Given the description of an element on the screen output the (x, y) to click on. 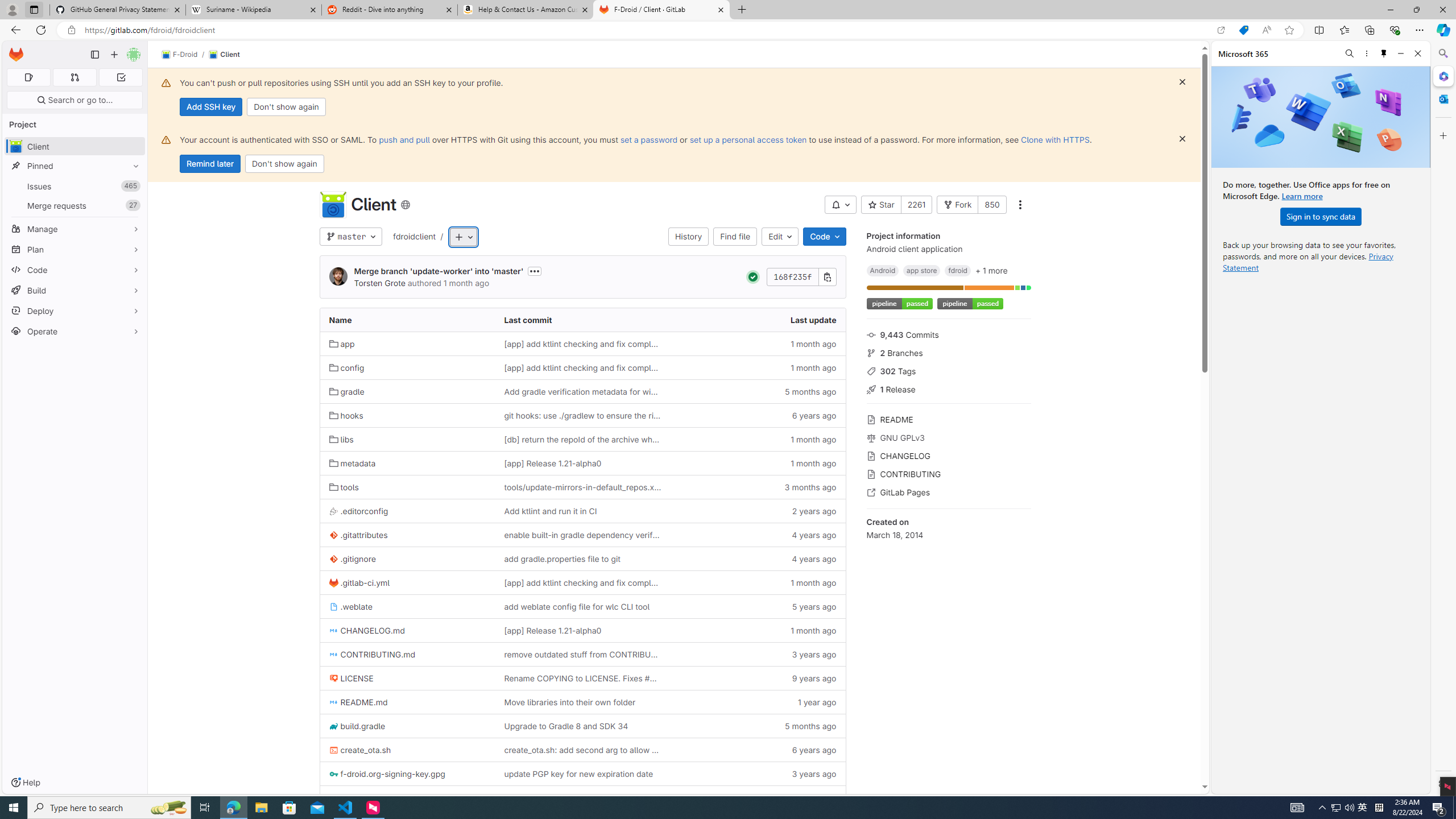
avatar (15, 146)
Copy commit SHA (827, 276)
config (346, 367)
5 years ago (757, 606)
Merge requests 27 (74, 205)
Find file (735, 236)
Pinned (74, 165)
gradle (346, 391)
Issues 465 (74, 185)
AutomationID: __BVID__332__BV_toggle_ (840, 204)
tools (343, 487)
Class: s16 gl-icon gl-button-icon  (1181, 138)
